Given the description of an element on the screen output the (x, y) to click on. 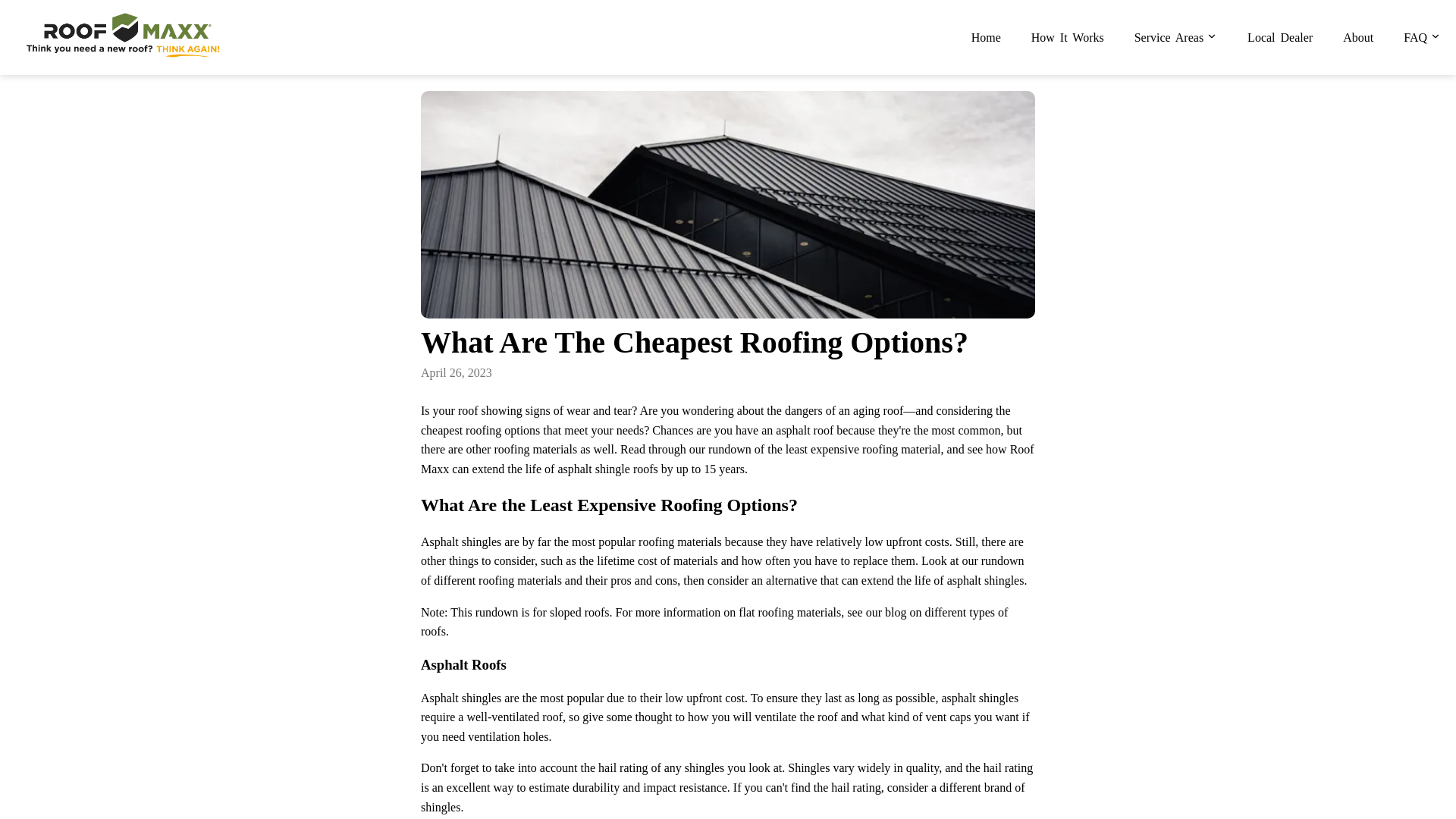
Local Dealer (1280, 38)
How It Works (1066, 38)
Home (986, 38)
About (1357, 38)
